Given the description of an element on the screen output the (x, y) to click on. 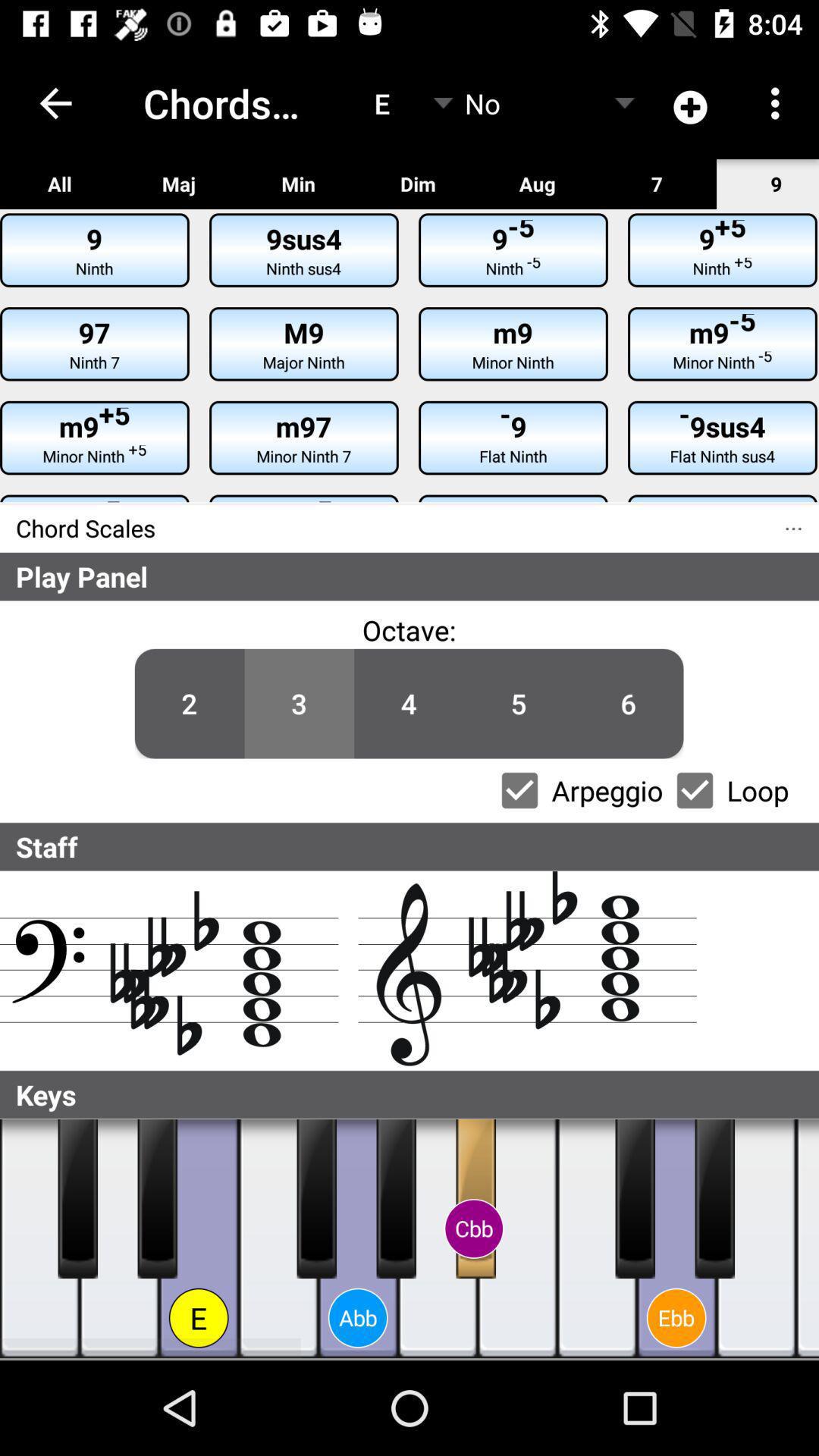
press the app next to the chords dictionary app (55, 103)
